Given the description of an element on the screen output the (x, y) to click on. 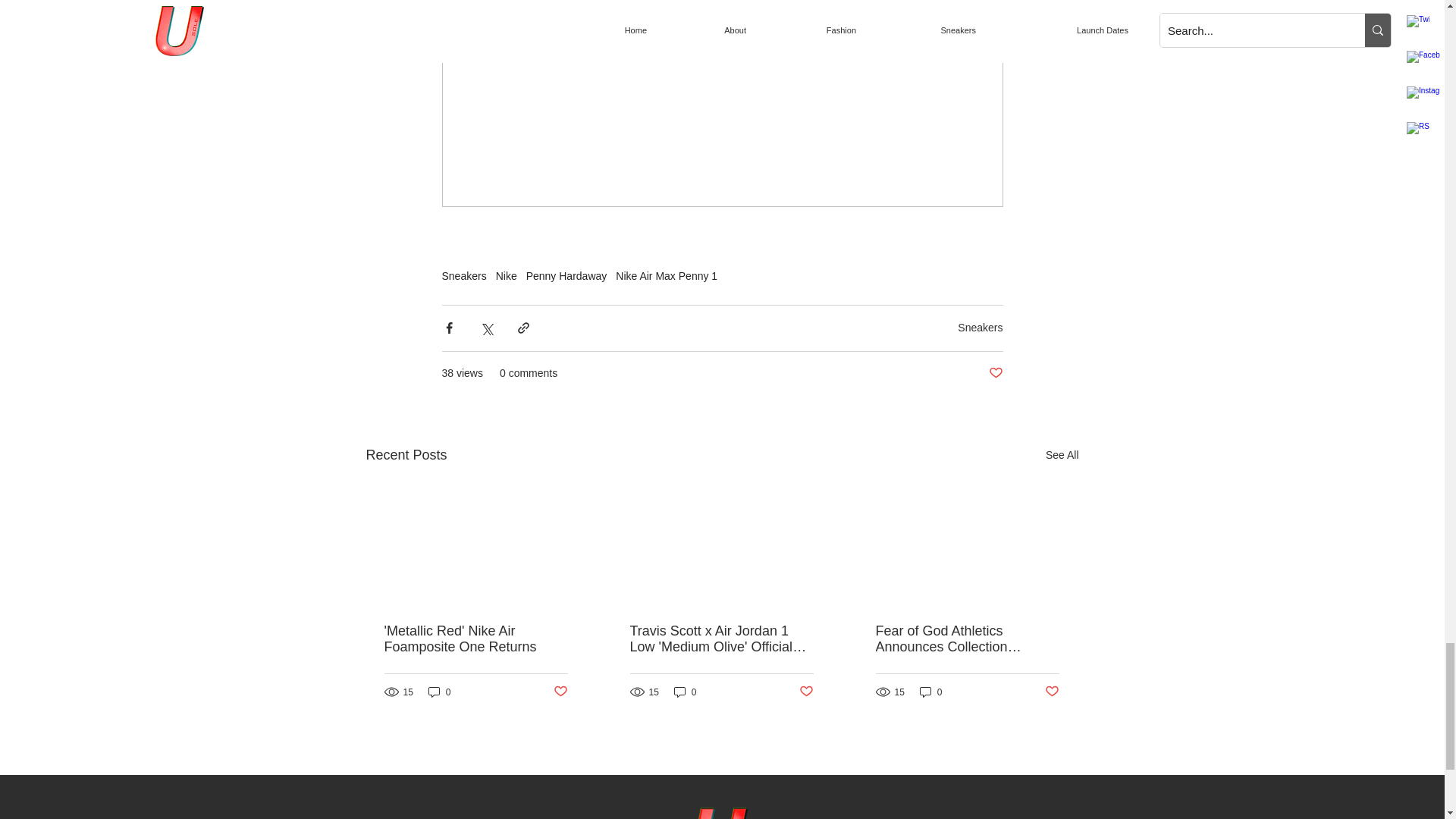
'Metallic Red' Nike Air Foamposite One Returns (475, 639)
0 (685, 691)
0 (930, 691)
0 (439, 691)
Nike Air Max Penny 1 (666, 275)
Sneakers (463, 275)
Penny Hardaway (566, 275)
See All (1061, 455)
Fear of God Athletics Announces Collection Unveiling (966, 639)
